Given the description of an element on the screen output the (x, y) to click on. 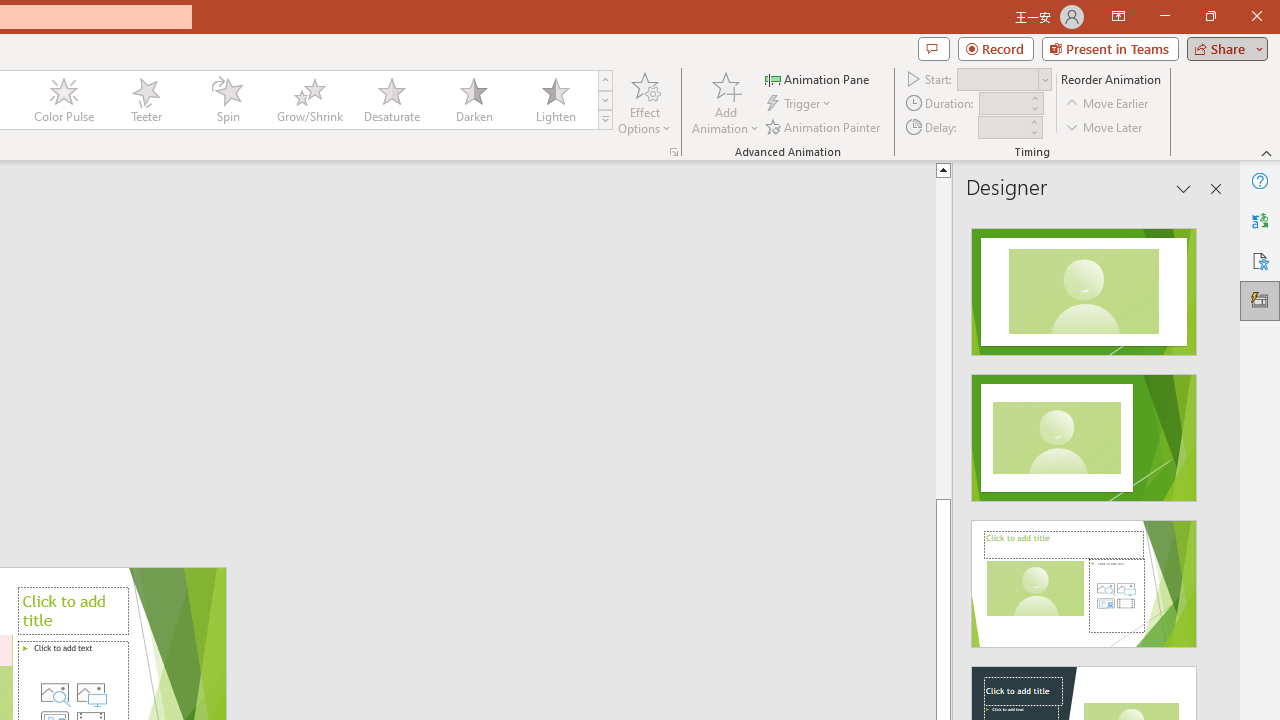
Trigger (799, 103)
Color Pulse (63, 100)
Desaturate (391, 100)
Grow/Shrink (309, 100)
Add Animation (725, 102)
Animation Delay (1002, 127)
